Given the description of an element on the screen output the (x, y) to click on. 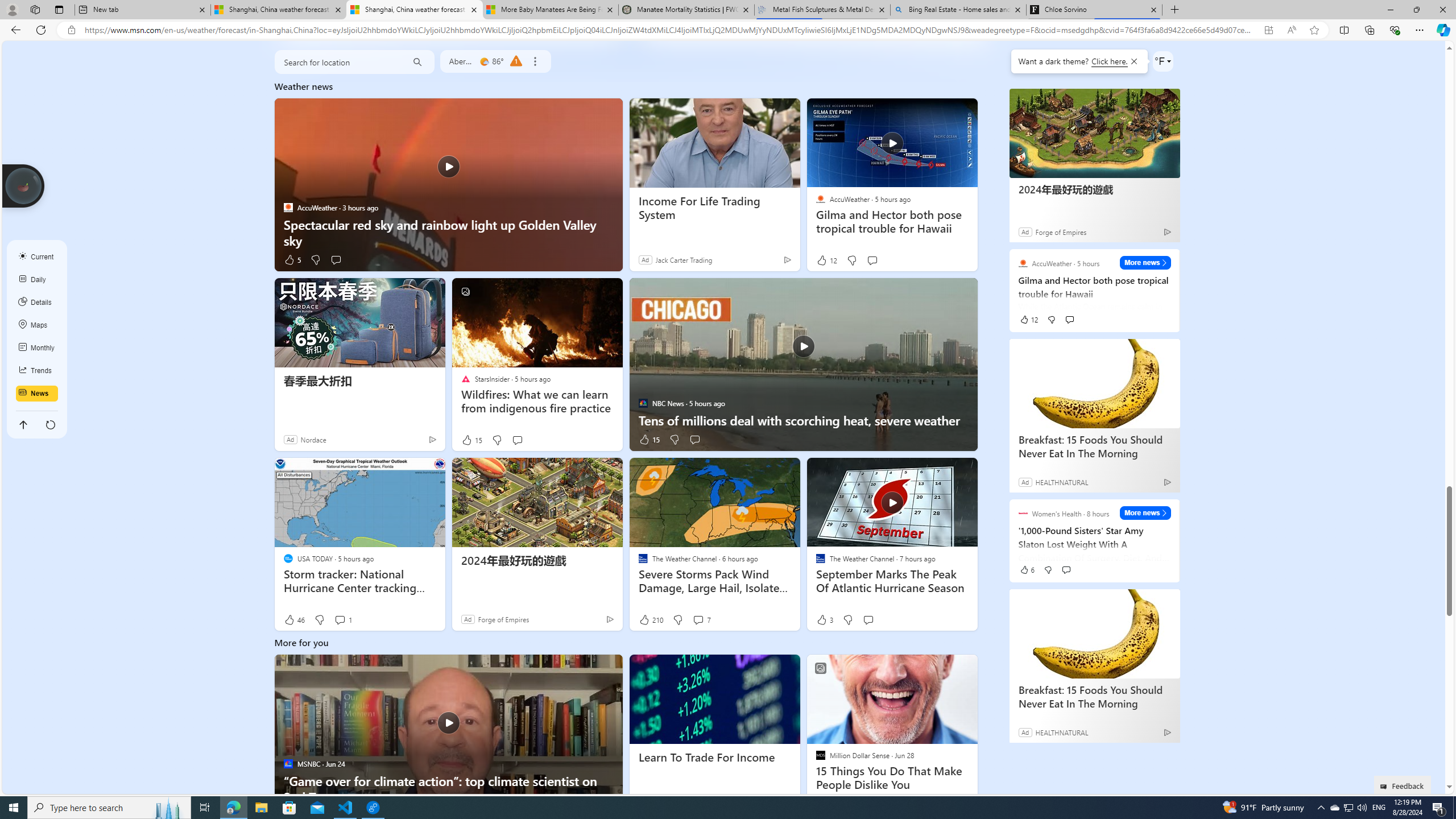
Join us in planting real trees to help our planet! (23, 185)
Class: BubbleMessageCloseIcon-DS-EntryPoint1-1 (1133, 61)
HEALTHNATURAL (1061, 732)
Forge of Empires (502, 619)
Trends (37, 370)
Million Dollar Sense (820, 755)
Refresh this page (50, 424)
Back to top (23, 424)
View comments 7 Comment (700, 619)
Class: feedback_link_icon-DS-EntryPoint1-1 (1384, 786)
Learn To Trade For Income (713, 757)
